Given the description of an element on the screen output the (x, y) to click on. 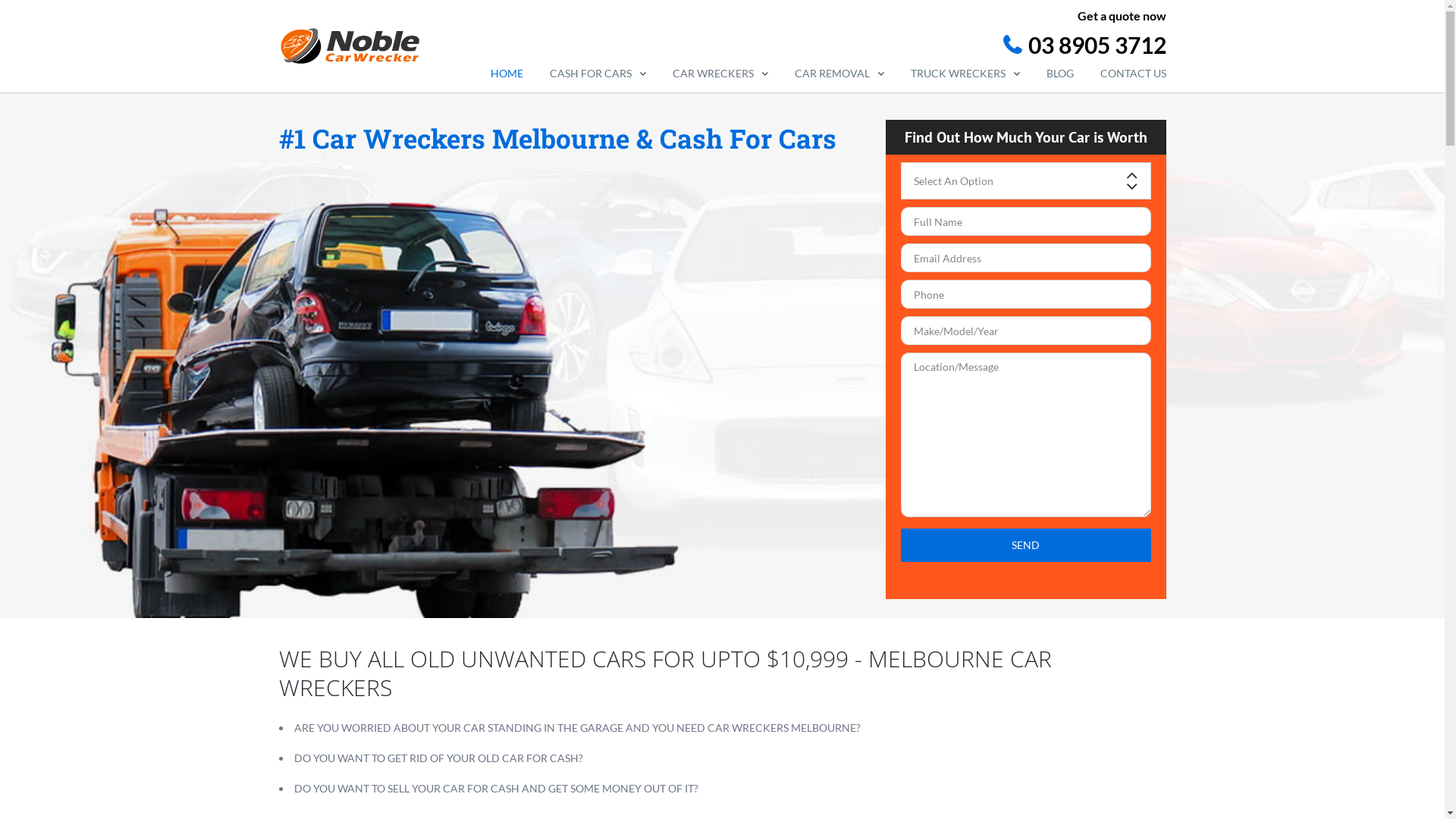
CASH FOR CARS Element type: text (597, 73)
Send Element type: text (1025, 544)
CAR REMOVAL Element type: text (839, 73)
BLOG Element type: text (1059, 73)
HOME Element type: text (505, 73)
TRUCK WRECKERS Element type: text (964, 73)
CAR WRECKERS Element type: text (719, 73)
03 8905 3712 Element type: text (815, 45)
CONTACT US Element type: text (1132, 73)
